Given the description of an element on the screen output the (x, y) to click on. 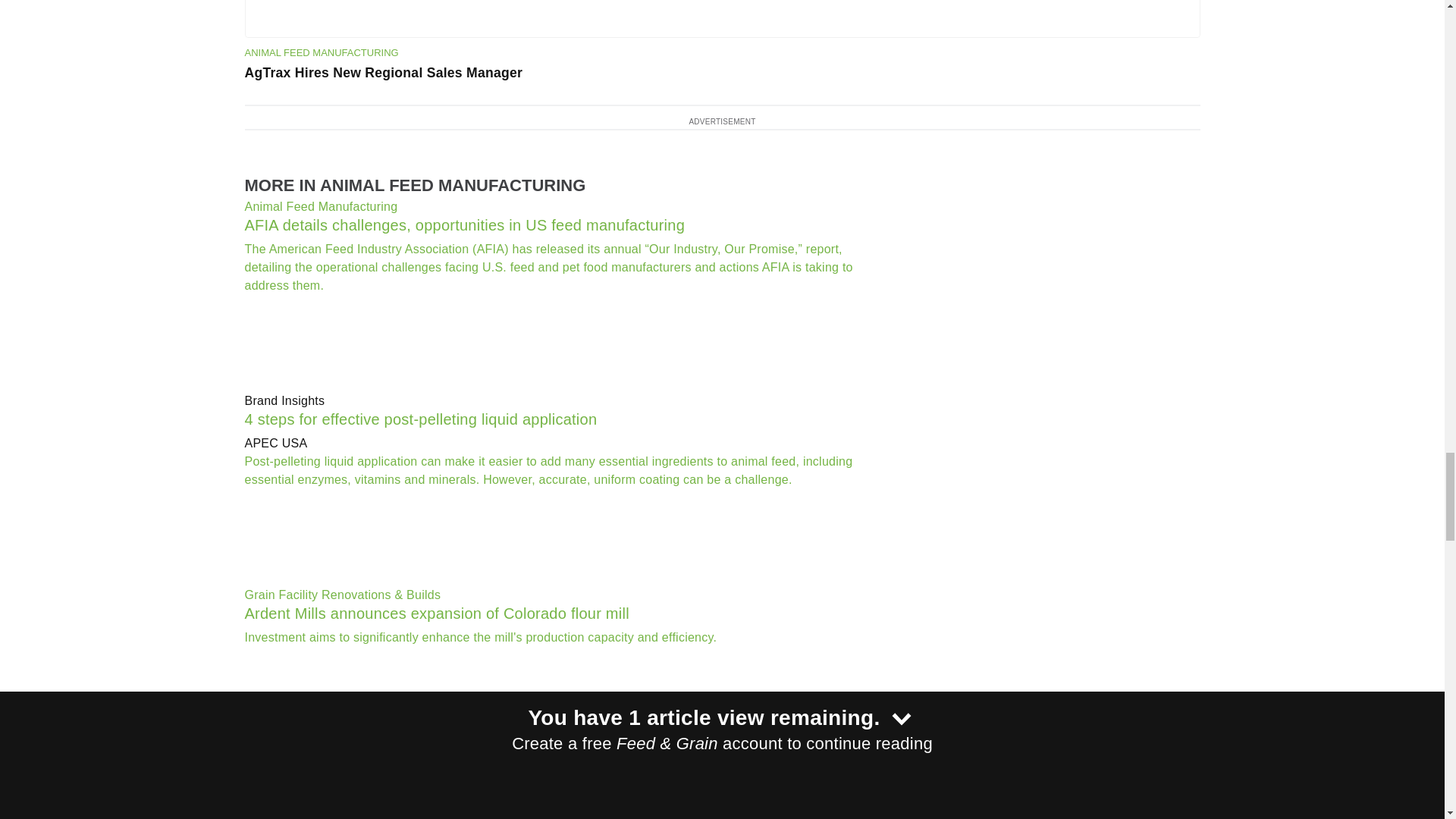
Animal Feed Manufacturing (560, 207)
Brand Insights (560, 401)
Animal Feed Manufacturing (320, 52)
